Given the description of an element on the screen output the (x, y) to click on. 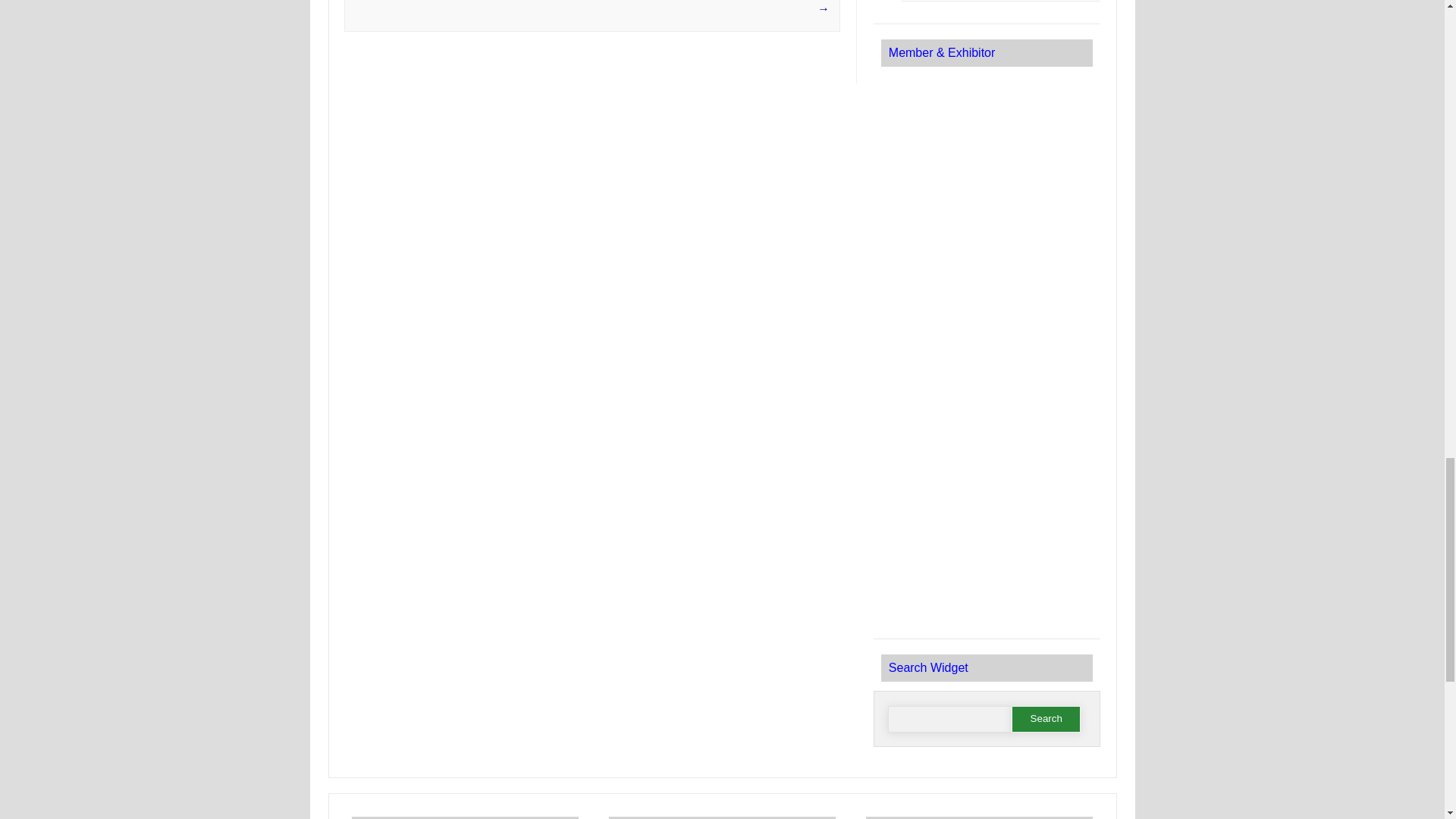
National Restaurant Association Trade Show (986, 217)
Healthcare kiosk HIMSS (986, 537)
Retail Kiosk NRF National Retail Federation (986, 122)
Search (1045, 718)
IAAPA Tradeshow kiosk (986, 324)
